Given the description of an element on the screen output the (x, y) to click on. 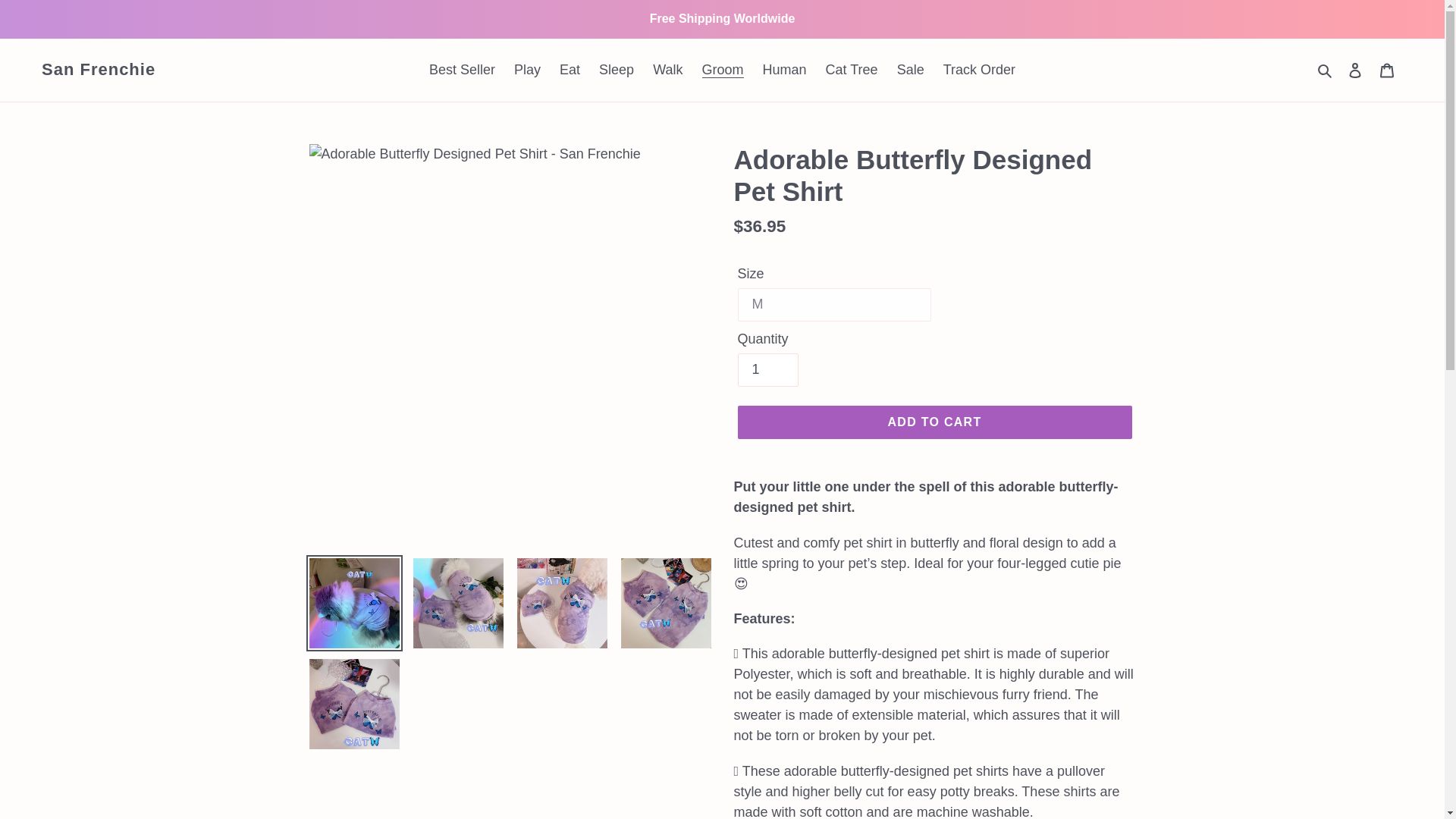
Track Order (979, 69)
1 (766, 369)
Walk (667, 69)
ADD TO CART (933, 421)
Cart (1387, 69)
Log in (1355, 69)
Human (784, 69)
Cat Tree (851, 69)
Free Shipping Worldwide (721, 18)
Play (527, 69)
